Given the description of an element on the screen output the (x, y) to click on. 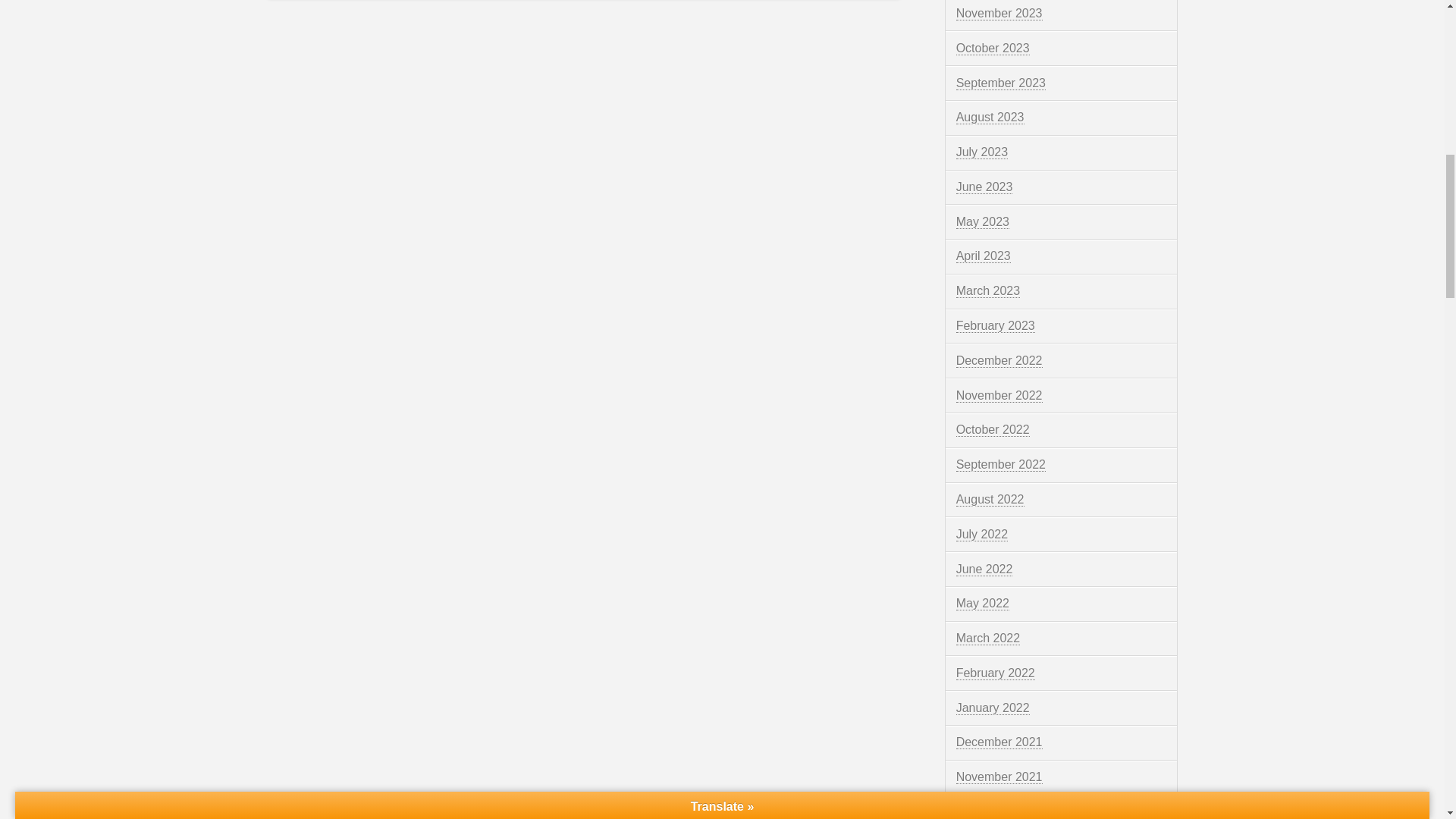
August 2023 (990, 117)
November 2021 (999, 776)
December 2021 (999, 742)
February 2022 (995, 673)
July 2022 (982, 534)
October 2023 (992, 48)
November 2022 (999, 395)
August 2022 (990, 499)
March 2022 (988, 638)
November 2023 (999, 13)
June 2023 (984, 187)
May 2022 (982, 603)
March 2023 (988, 291)
April 2023 (983, 255)
September 2022 (1000, 464)
